Given the description of an element on the screen output the (x, y) to click on. 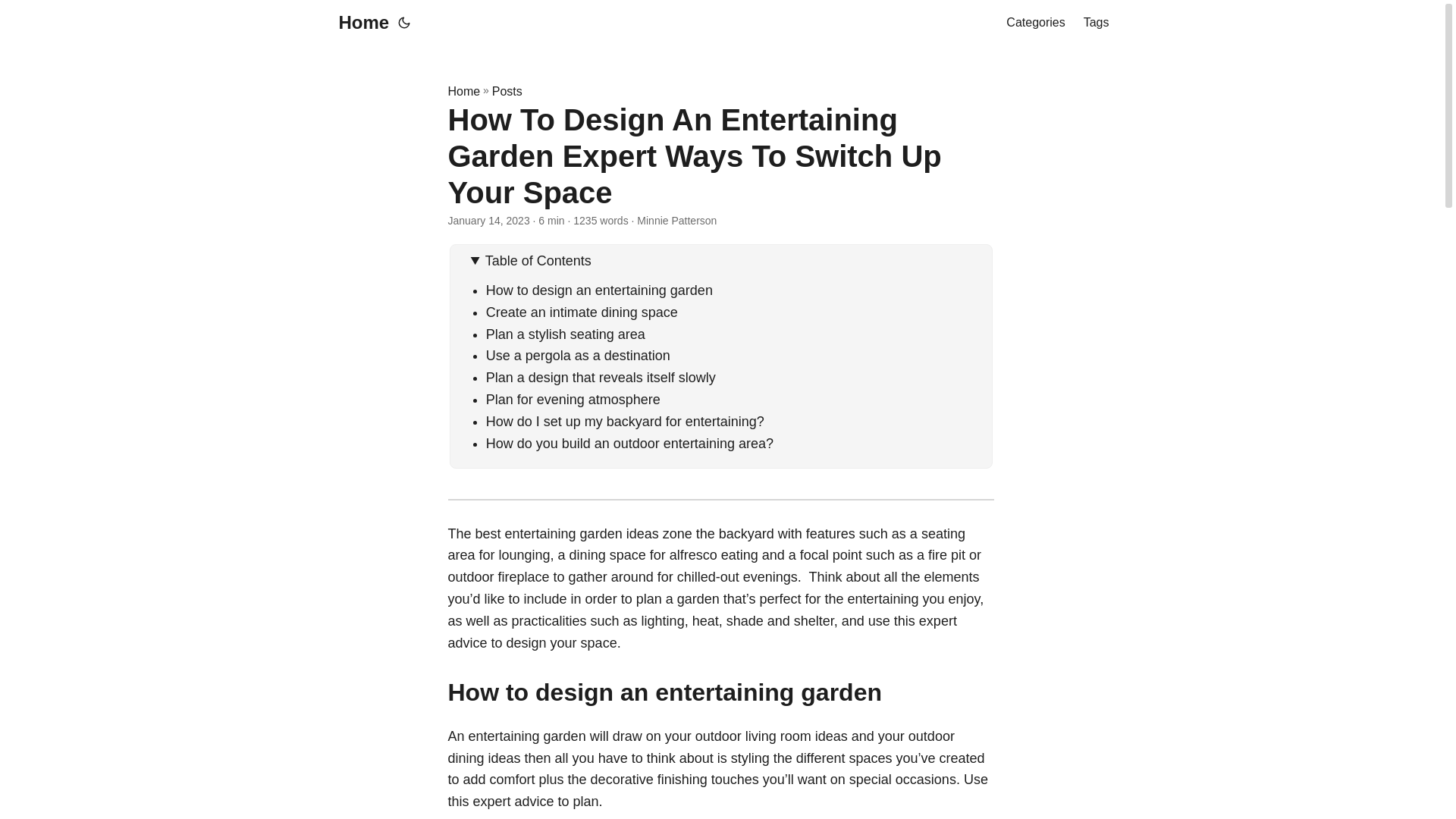
Home (359, 22)
Plan a stylish seating area (565, 334)
Plan for evening atmosphere  (574, 399)
How to design an entertaining garden (599, 290)
Plan a design that reveals itself slowly (601, 377)
Home (463, 91)
Use a pergola as a destination (577, 355)
Posts (507, 91)
Create an intimate dining space (582, 312)
How do you build an outdoor entertaining area? (629, 443)
